Given the description of an element on the screen output the (x, y) to click on. 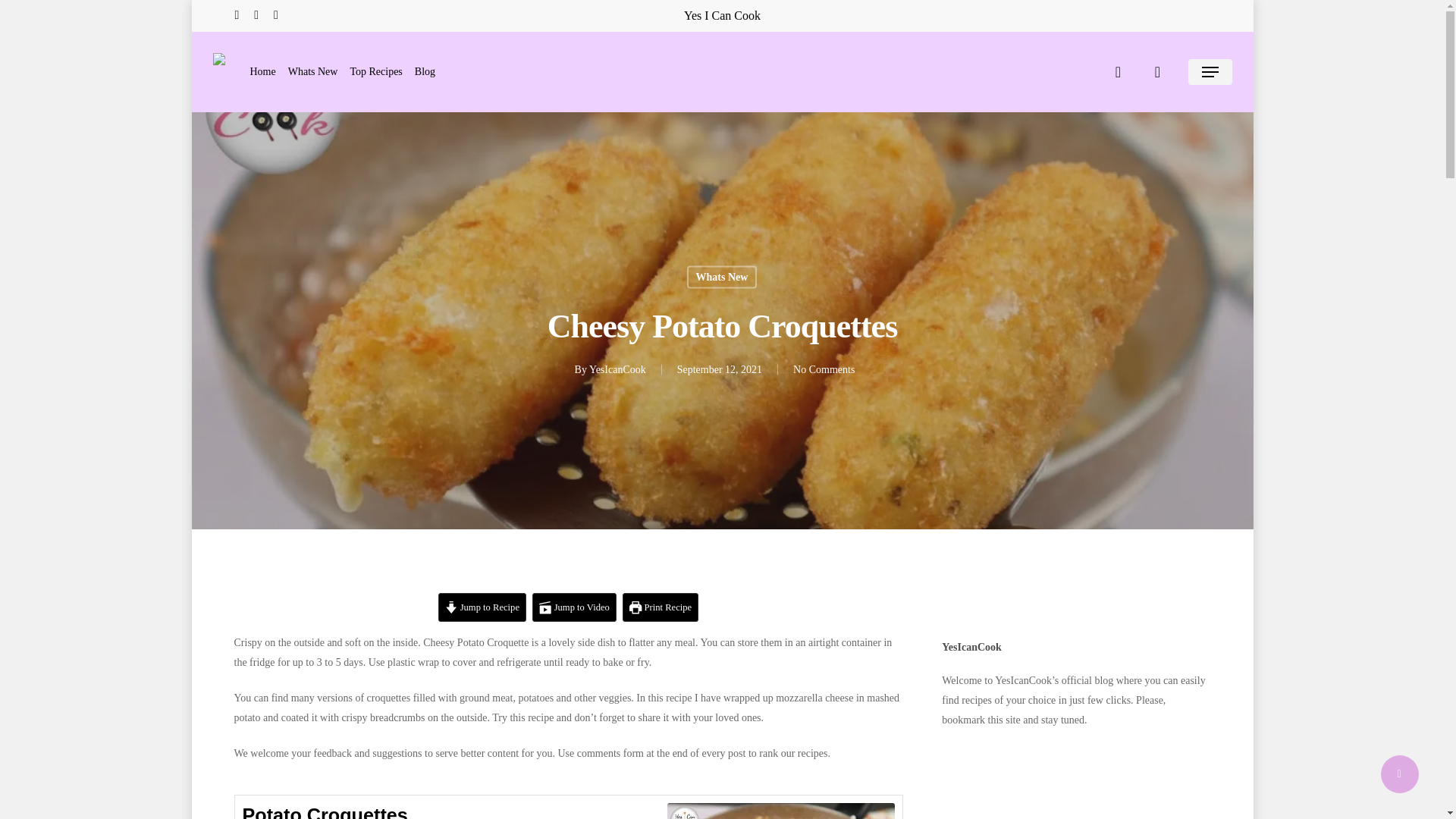
Menu (1209, 71)
Posts by YesIcanCook (617, 369)
search (1117, 71)
YesIcanCook (617, 369)
Blog (424, 71)
Top Recipes (375, 71)
Print Recipe (660, 606)
Jump to Recipe (481, 606)
Jump to Video (573, 606)
Whats New (722, 276)
Whats New (312, 71)
account (1157, 71)
Home (263, 71)
No Comments (823, 369)
